Given the description of an element on the screen output the (x, y) to click on. 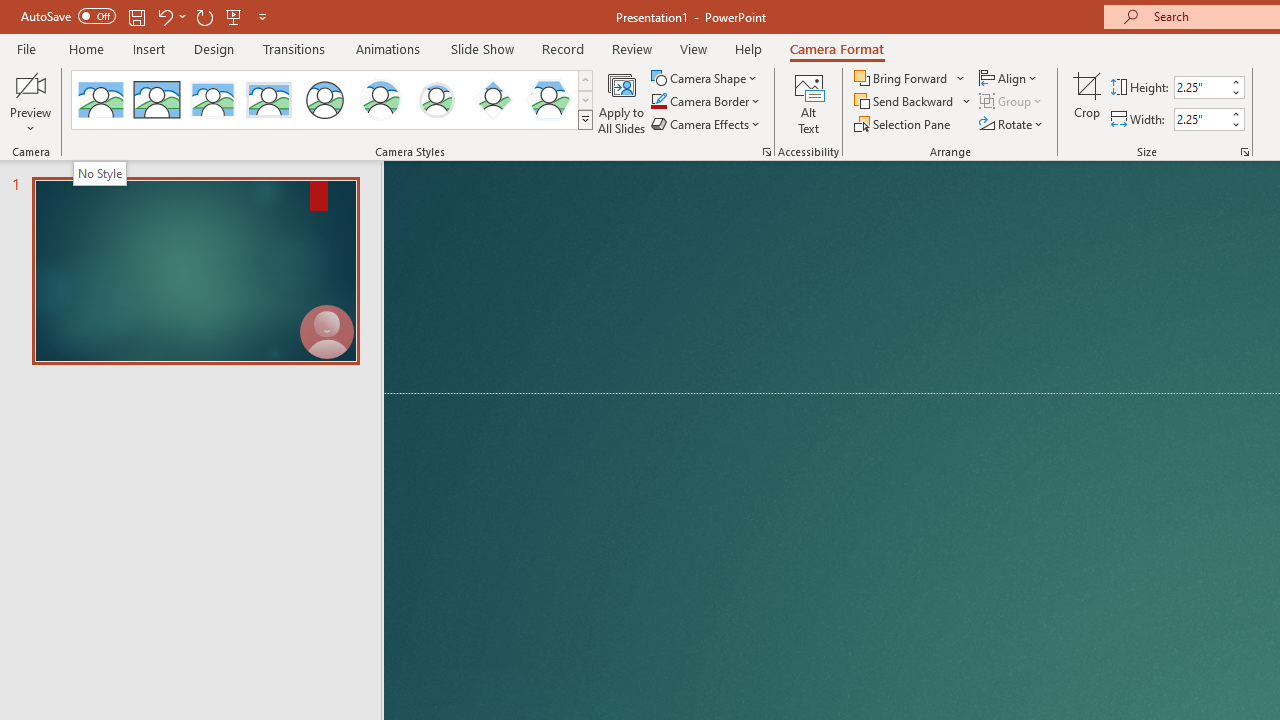
Send Backward (905, 101)
Cameo Width (1201, 119)
Camera Styles (585, 120)
Soft Edge Rectangle (268, 100)
Simple Frame Rectangle (157, 100)
Bring Forward (902, 78)
Apply to All Slides (621, 102)
Center Shadow Hexagon (548, 100)
Camera Format (836, 48)
